Given the description of an element on the screen output the (x, y) to click on. 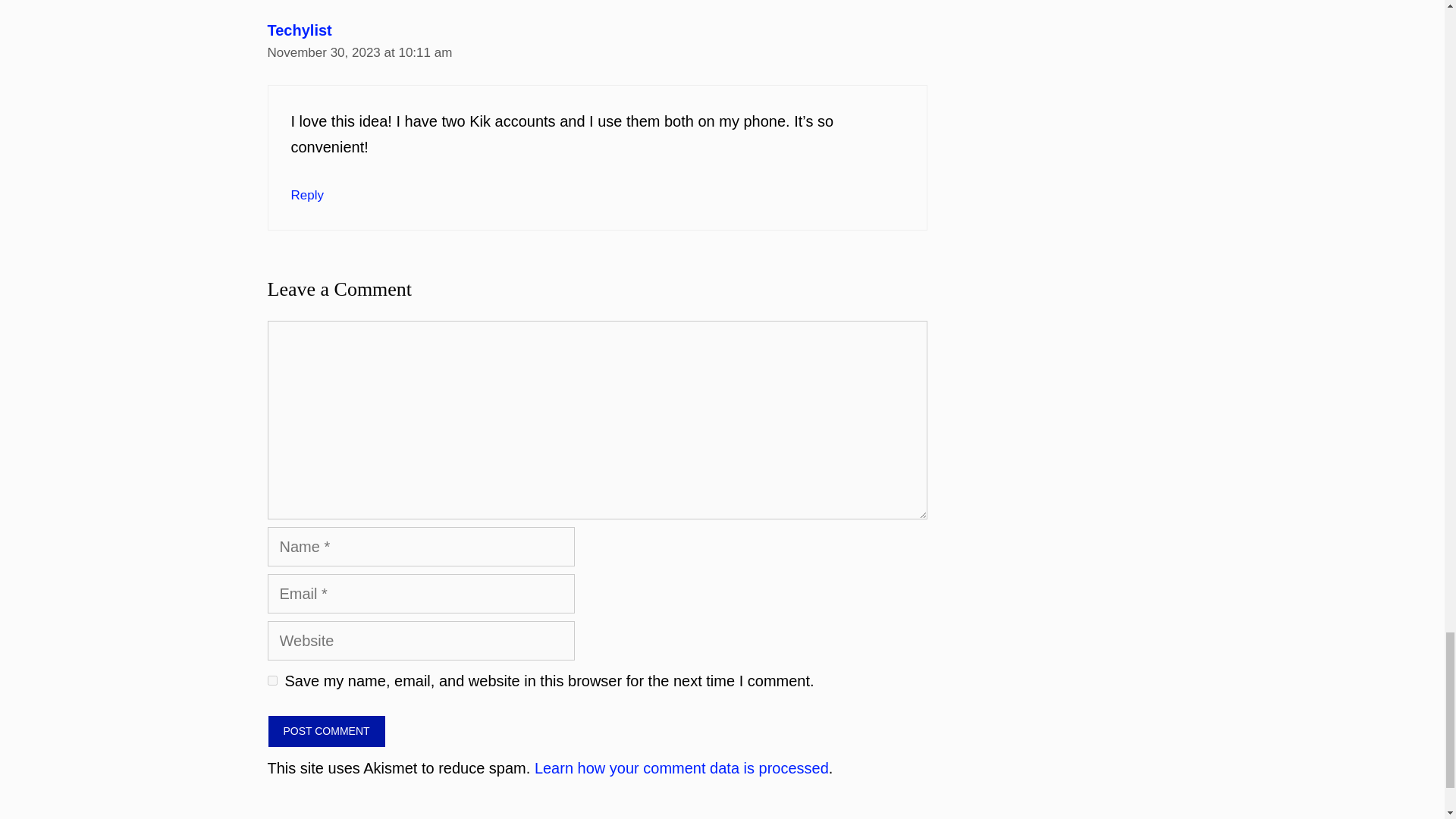
Learn how your comment data is processed (681, 768)
yes (271, 680)
Post Comment (325, 730)
November 30, 2023 at 10:11 am (358, 52)
Techylist (298, 30)
Reply (307, 195)
Post Comment (325, 730)
